Given the description of an element on the screen output the (x, y) to click on. 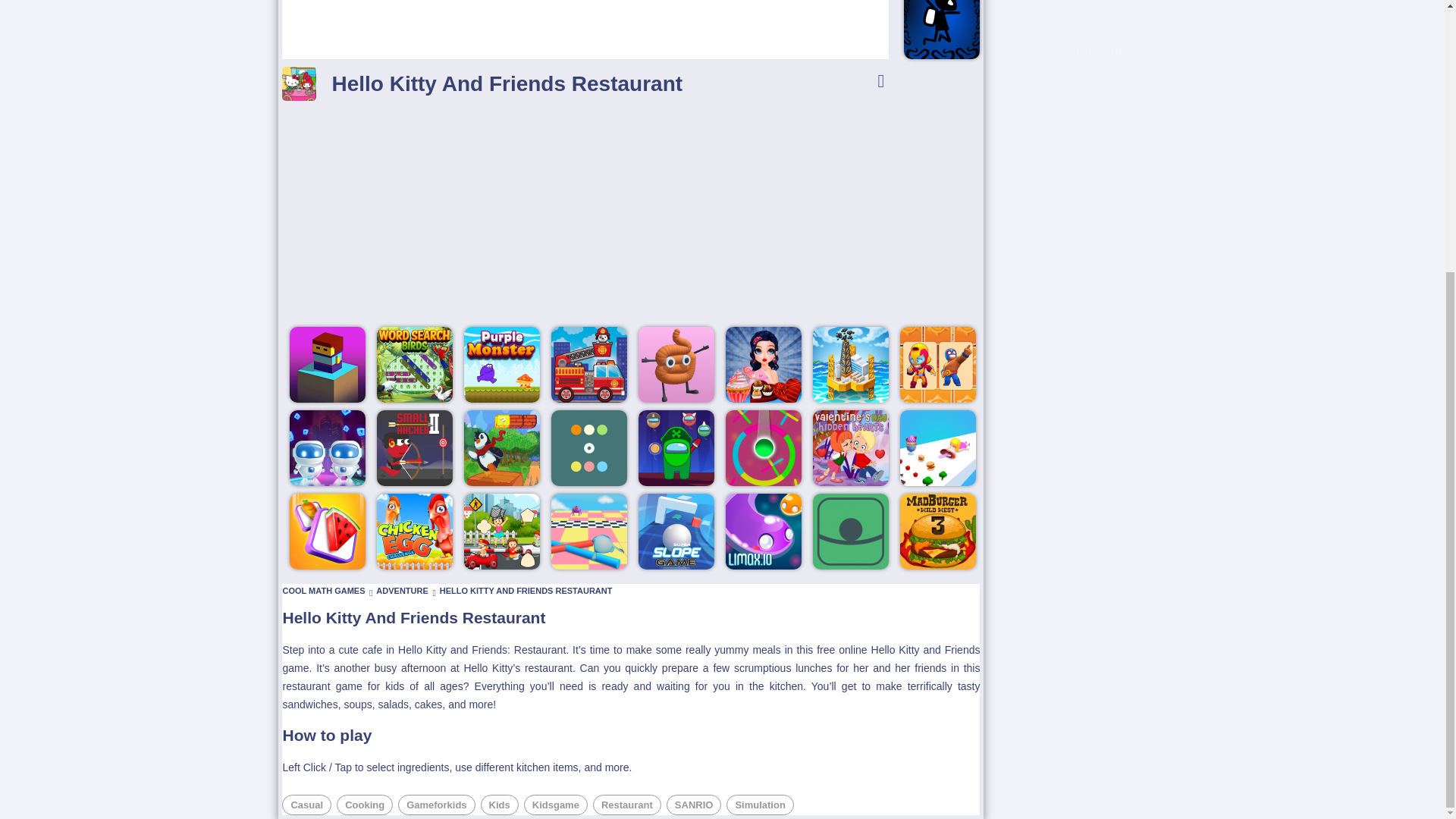
Fighting Stars Memory (937, 364)
HELLO KITTY AND FRIENDS RESTAURANT (525, 590)
Fire Trucks Differences (589, 364)
Keep Jump to Sky (327, 364)
Small Archer 2 (414, 448)
Casual (306, 804)
COOL MATH GAMES (323, 590)
Robo Clone (327, 448)
Advertisement (1104, 35)
Kids (499, 804)
Fullscreen (880, 81)
Marie Prepares Treat (763, 364)
Turd Show (676, 364)
Baby Chicco Adventures (502, 448)
